Given the description of an element on the screen output the (x, y) to click on. 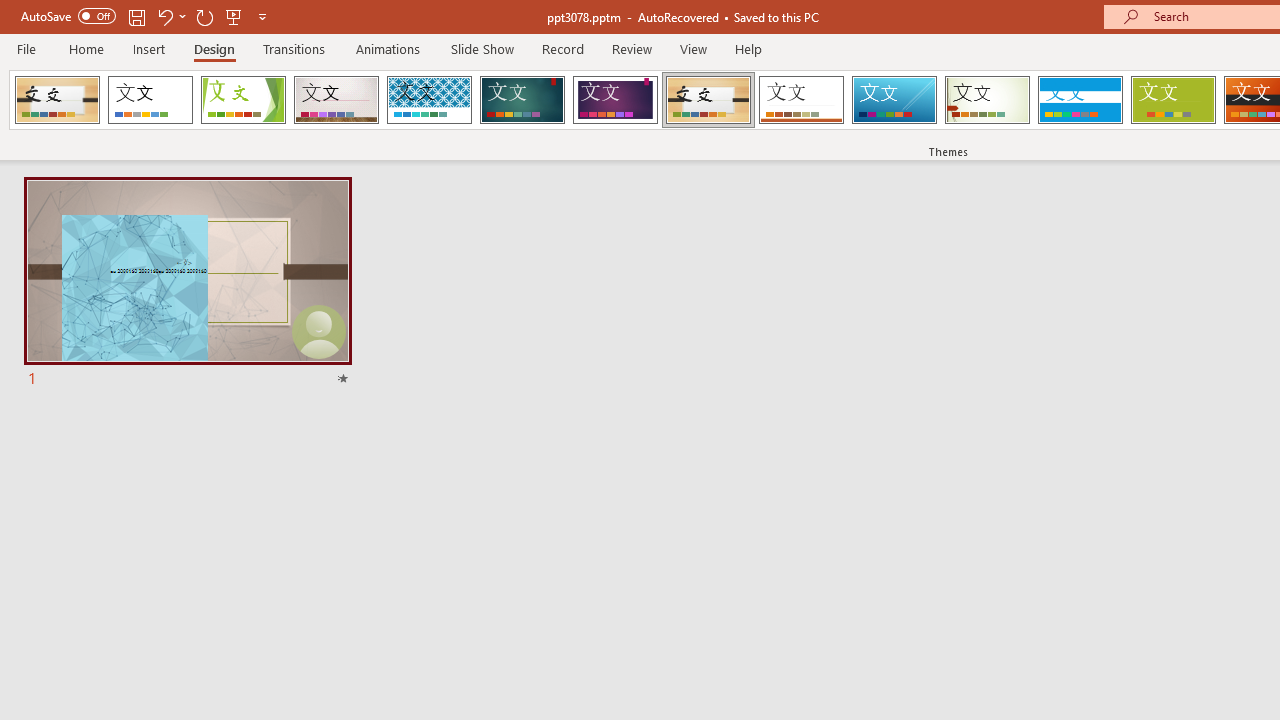
Basis (1172, 100)
